Given the description of an element on the screen output the (x, y) to click on. 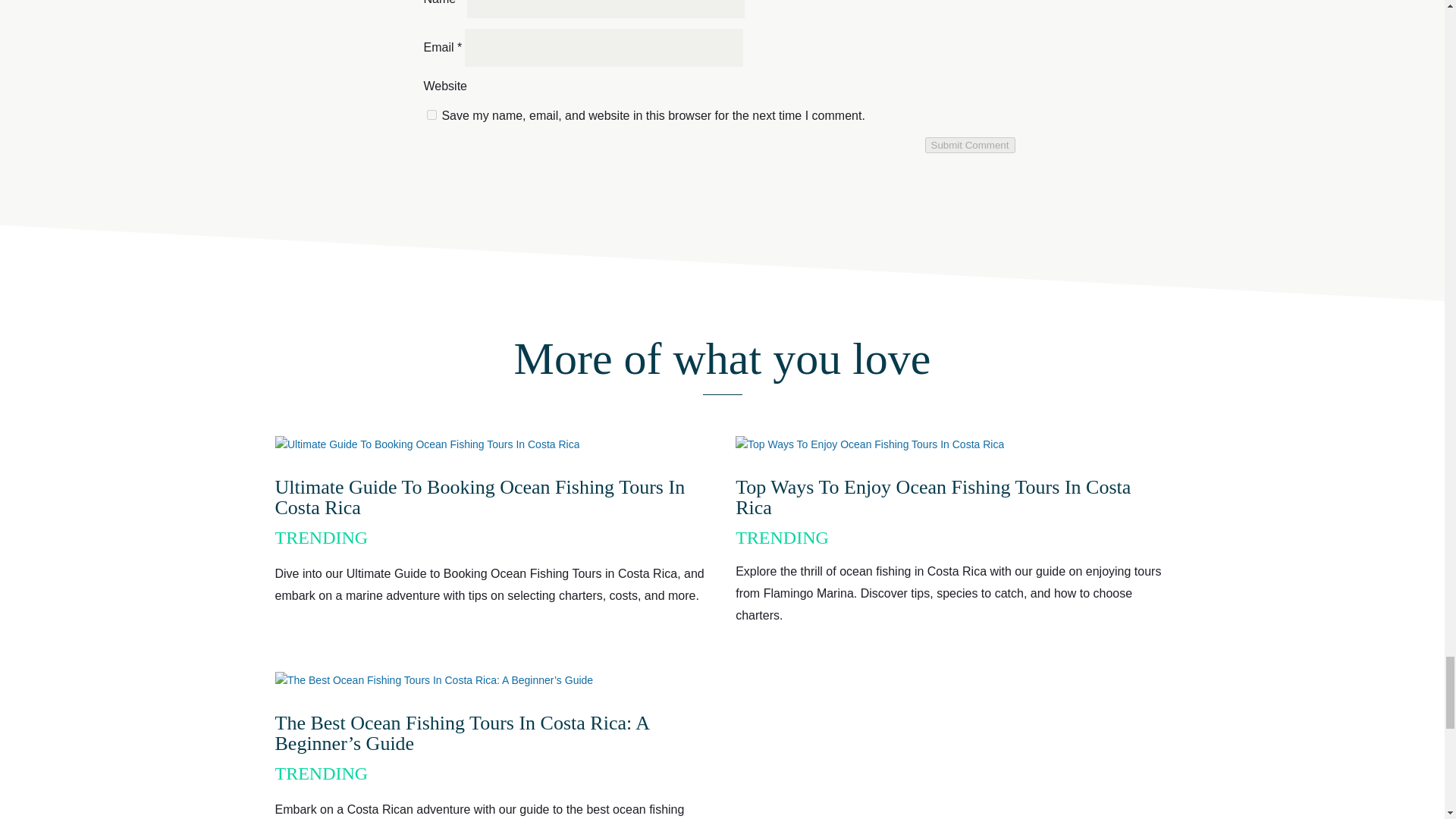
TRENDING (781, 537)
Ultimate Guide To Booking Ocean Fishing Tours In Costa Rica (479, 496)
Top Ways To Enjoy Ocean Fishing Tours In Costa Rica (933, 496)
TRENDING (321, 772)
TRENDING (321, 537)
yes (430, 114)
Submit Comment (969, 145)
